Given the description of an element on the screen output the (x, y) to click on. 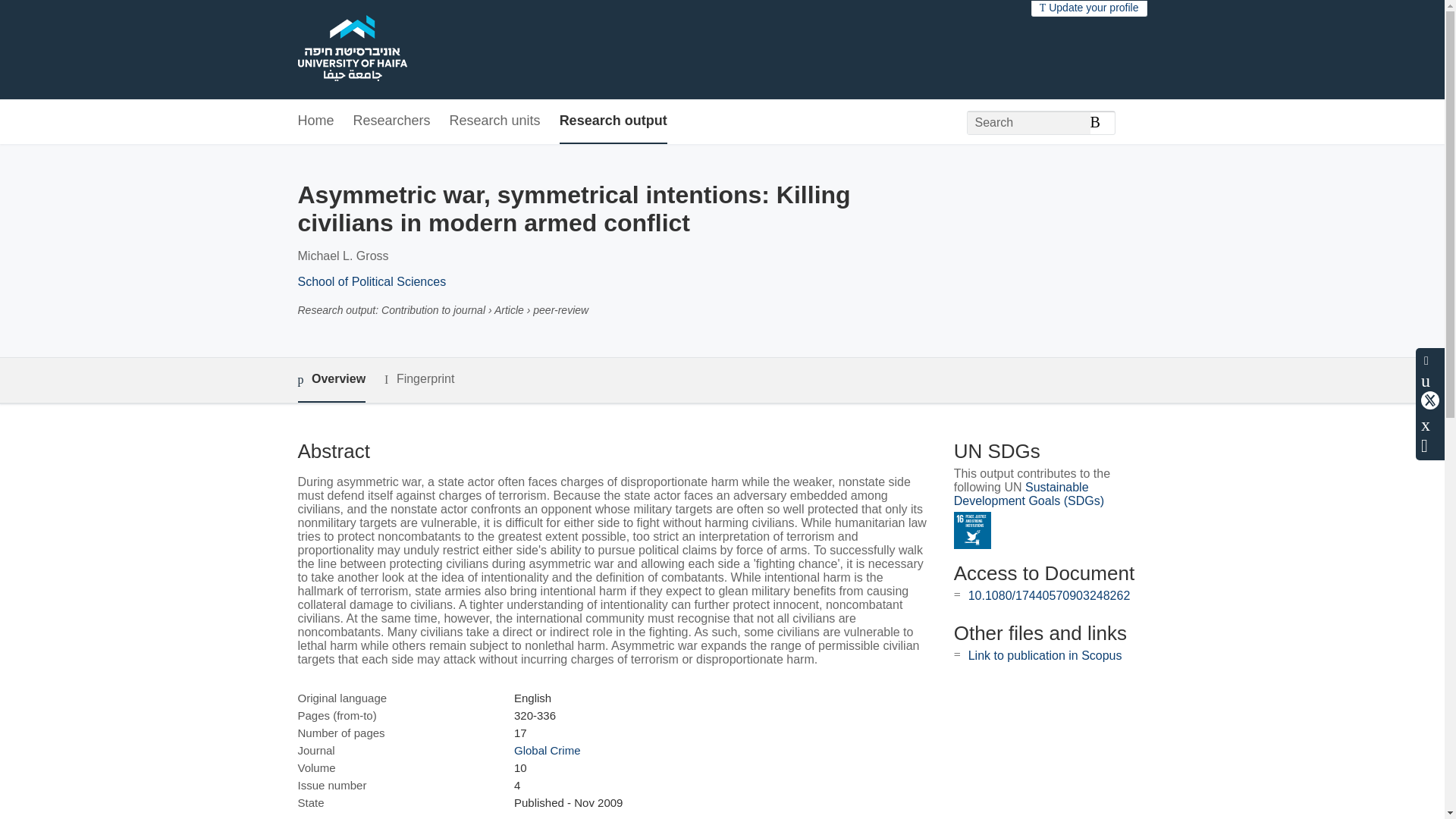
Research units (494, 121)
Researchers (391, 121)
Link to publication in Scopus (1045, 655)
Research output (612, 121)
University of Haifa Home (351, 49)
SDG 16 - Peace, Justice and Strong Institutions (972, 529)
Update your profile (1089, 7)
Global Crime (546, 749)
Overview (331, 379)
School of Political Sciences (371, 281)
Fingerprint (419, 379)
